Given the description of an element on the screen output the (x, y) to click on. 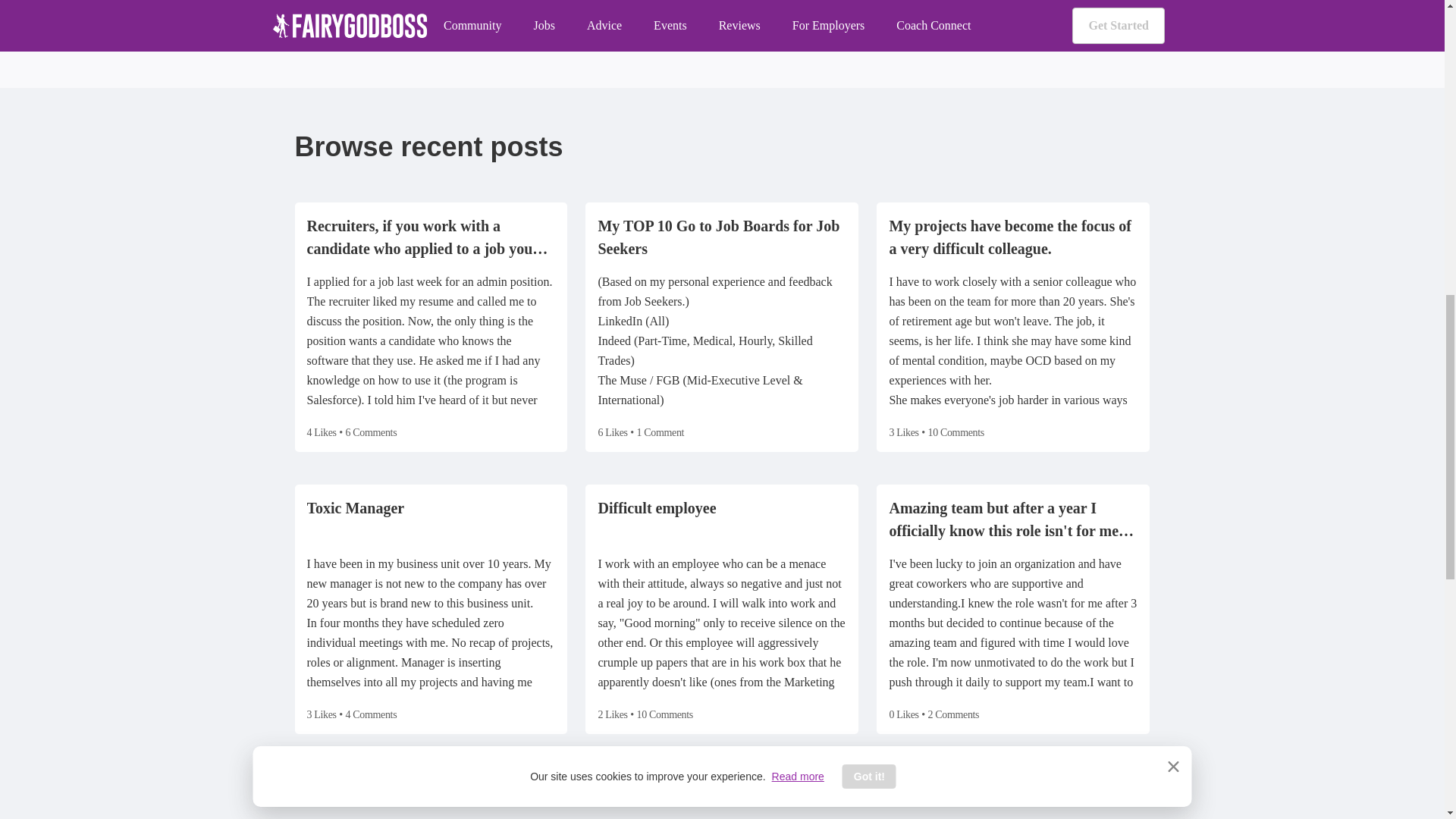
See more (1120, 778)
